Given the description of an element on the screen output the (x, y) to click on. 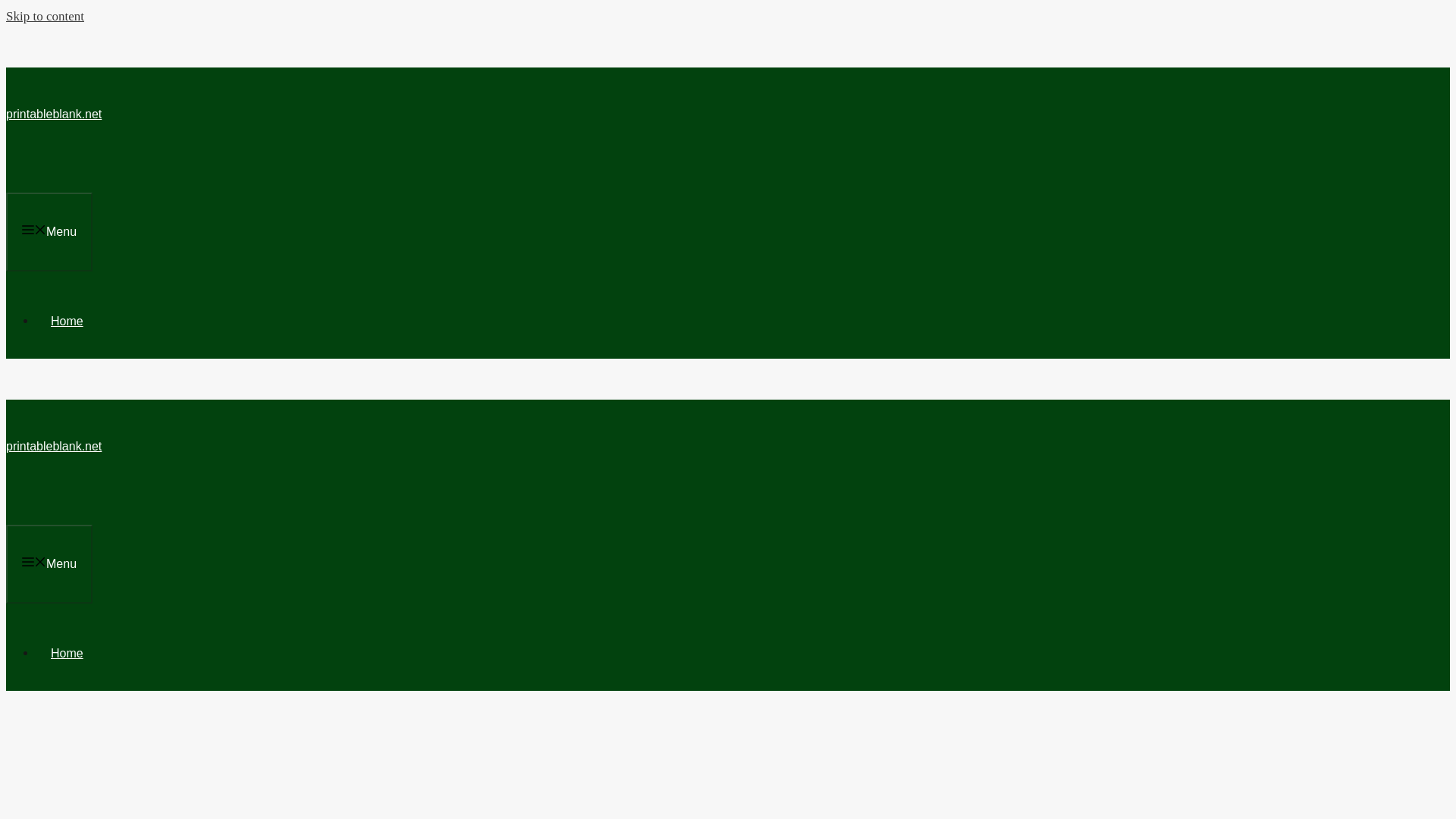
Skip to content (44, 16)
Menu (49, 563)
printableblank.net (53, 445)
Home (66, 320)
printableblank.net (53, 113)
Home (66, 653)
Skip to content (44, 16)
Menu (49, 231)
